Given the description of an element on the screen output the (x, y) to click on. 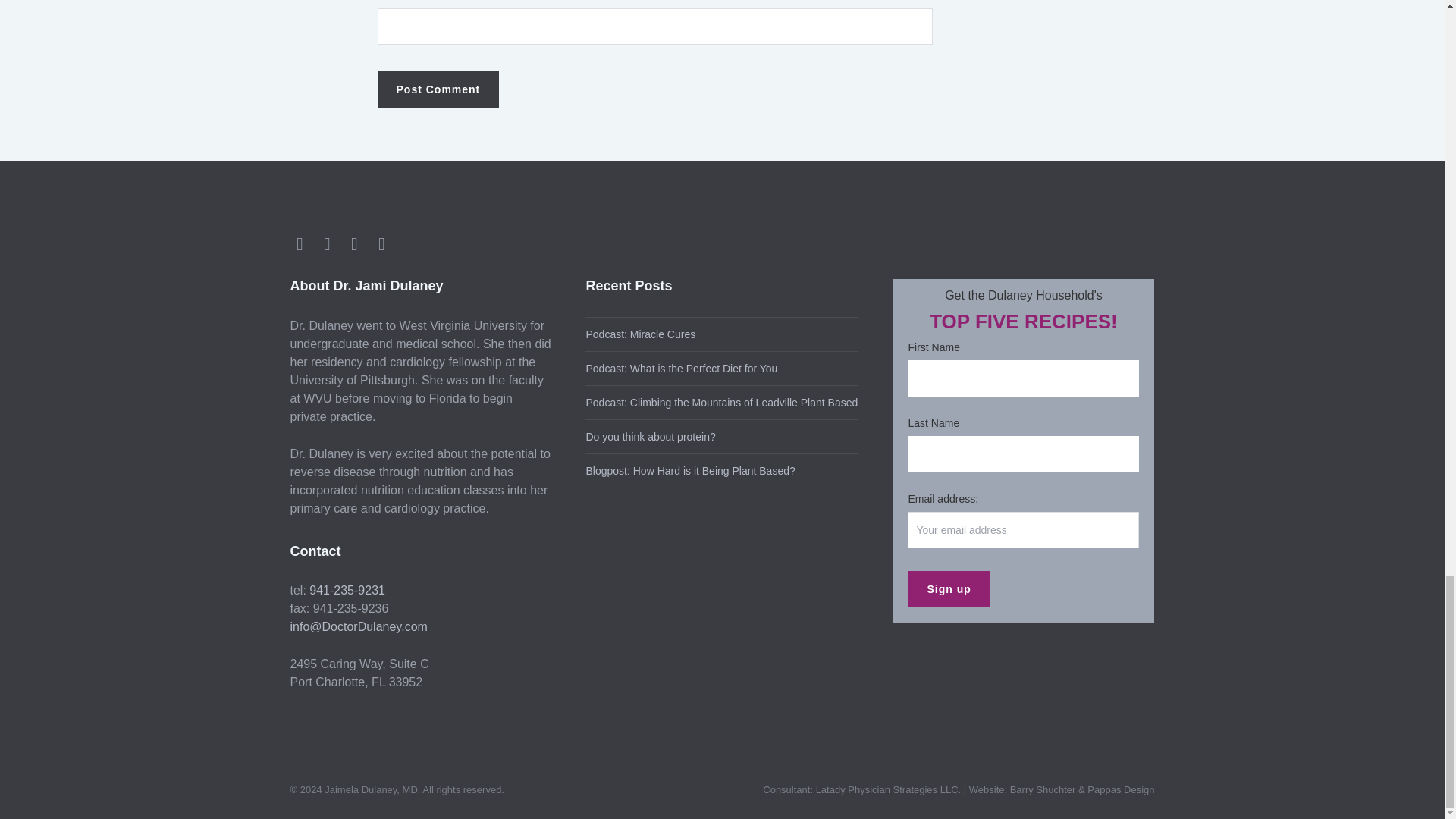
Sign up (948, 588)
Post Comment (438, 89)
